Given the description of an element on the screen output the (x, y) to click on. 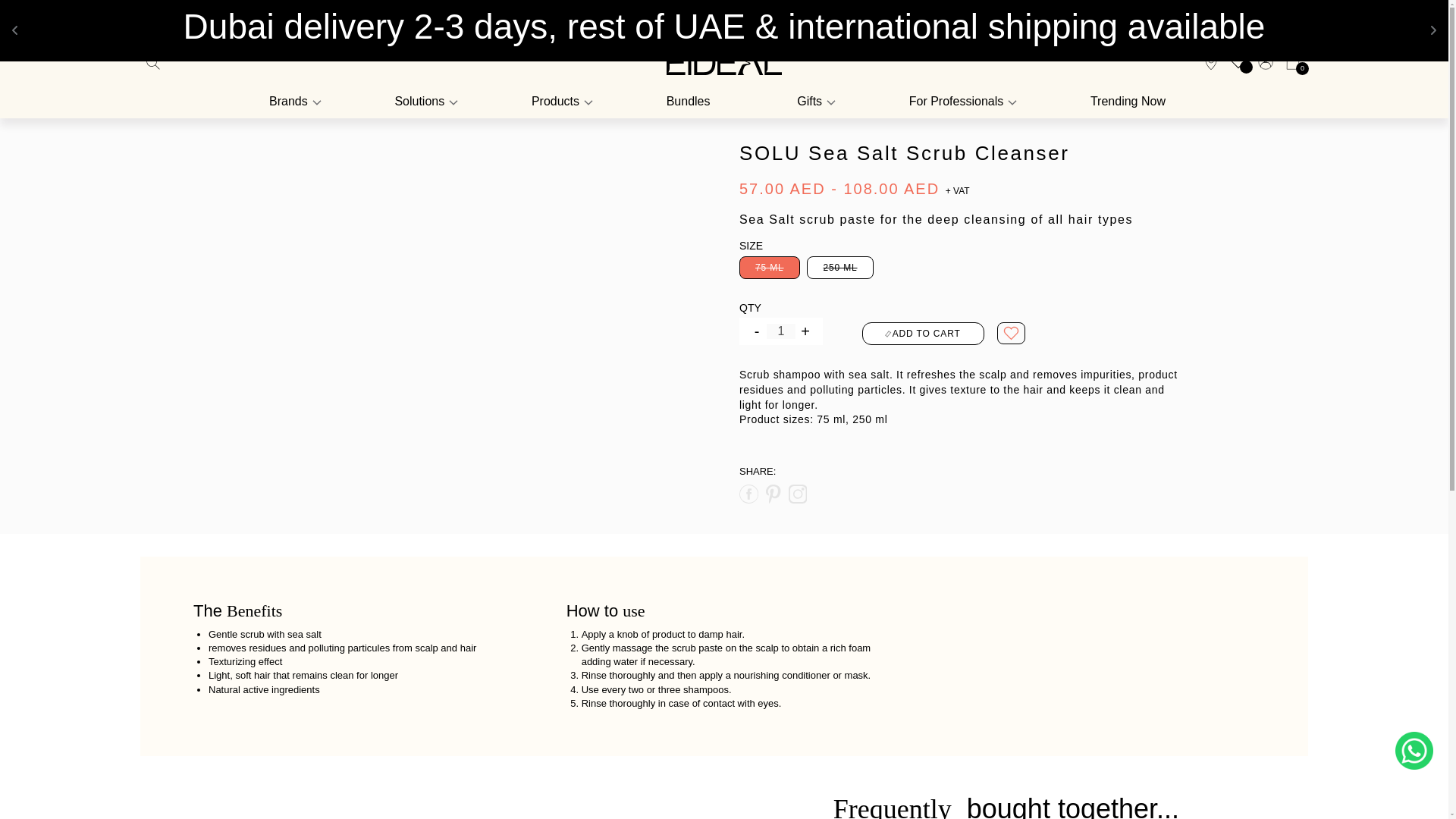
Wishlist (1238, 61)
Solutions (424, 101)
Products (559, 101)
Brands (295, 101)
Whatsapp us now (1413, 750)
My Account (1265, 61)
0 (1289, 61)
- (756, 331)
